Given the description of an element on the screen output the (x, y) to click on. 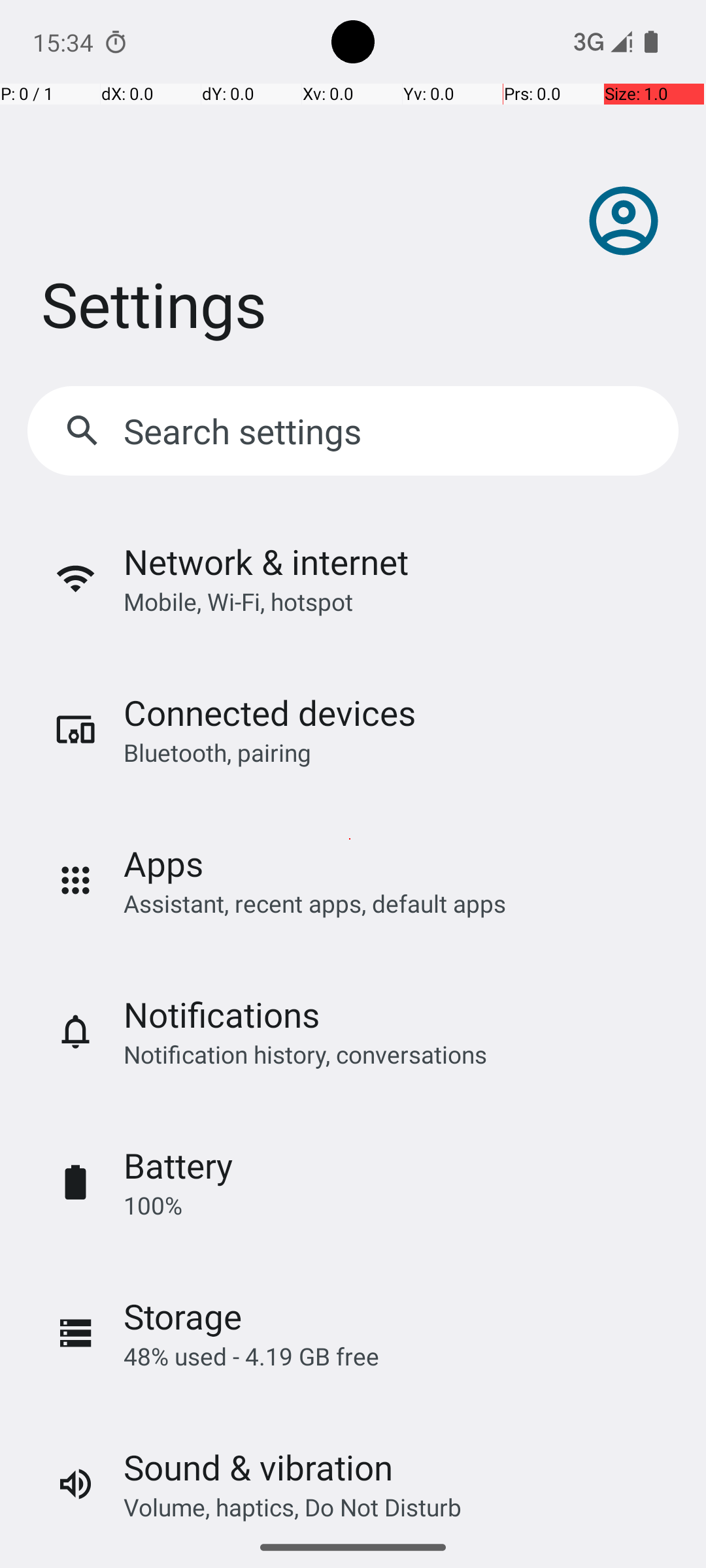
48% used - 4.19 GB free Element type: android.widget.TextView (251, 1355)
